Given the description of an element on the screen output the (x, y) to click on. 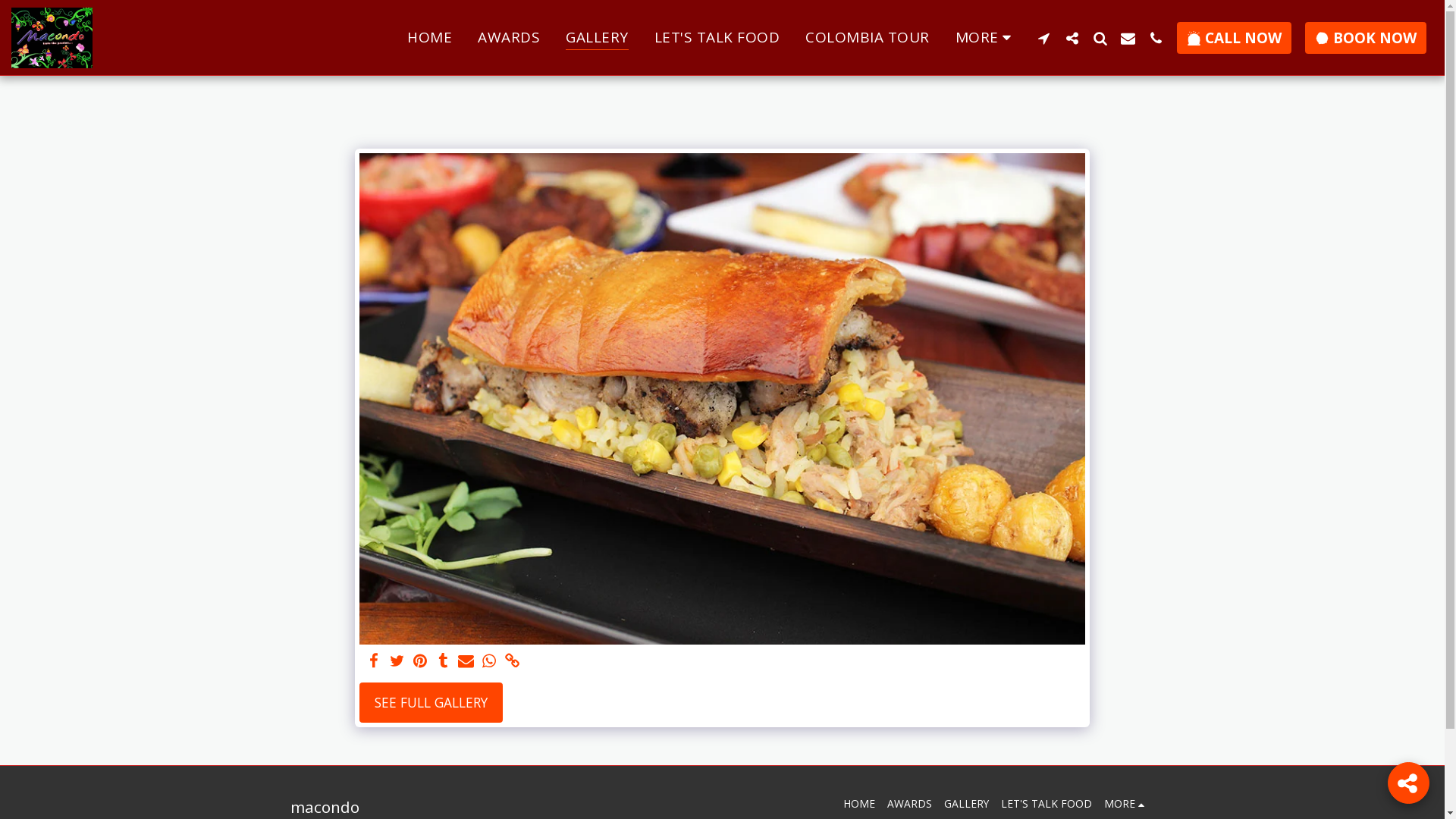
GALLERY Element type: text (596, 37)
COLOMBIA TOUR Element type: text (867, 37)
tumblr Element type: hover (443, 661)
whatsapp Element type: hover (488, 661)
  Element type: text (374, 661)
HOME Element type: text (859, 803)
SEE FULL GALLERY Element type: text (430, 702)
  Element type: text (1408, 782)
Tweet Element type: hover (397, 661)
  BOOK NOW Element type: text (1365, 37)
GALLERY Element type: text (966, 803)
MORE   Element type: text (986, 37)
  Element type: text (397, 661)
AWARDS Element type: text (508, 37)
  CALL NOW Element type: text (1233, 37)
  Element type: text (488, 661)
  Element type: text (443, 661)
  Element type: text (466, 661)
Share by Email Element type: hover (466, 661)
  Element type: text (1099, 37)
  Element type: text (1155, 37)
  BOOK NOW Element type: text (1365, 37)
  Element type: text (419, 661)
HOME Element type: text (429, 37)
  Element type: text (1043, 37)
AWARDS Element type: text (909, 803)
  Element type: text (511, 661)
MORE   Element type: text (1126, 803)
Share on Facebook Element type: hover (374, 661)
  Element type: text (1071, 37)
Pin it Element type: hover (419, 661)
  Element type: text (1127, 37)
LET'S TALK FOOD Element type: text (1046, 803)
link Element type: hover (511, 661)
LET'S TALK FOOD Element type: text (716, 37)
  CALL NOW Element type: text (1233, 37)
